Given the description of an element on the screen output the (x, y) to click on. 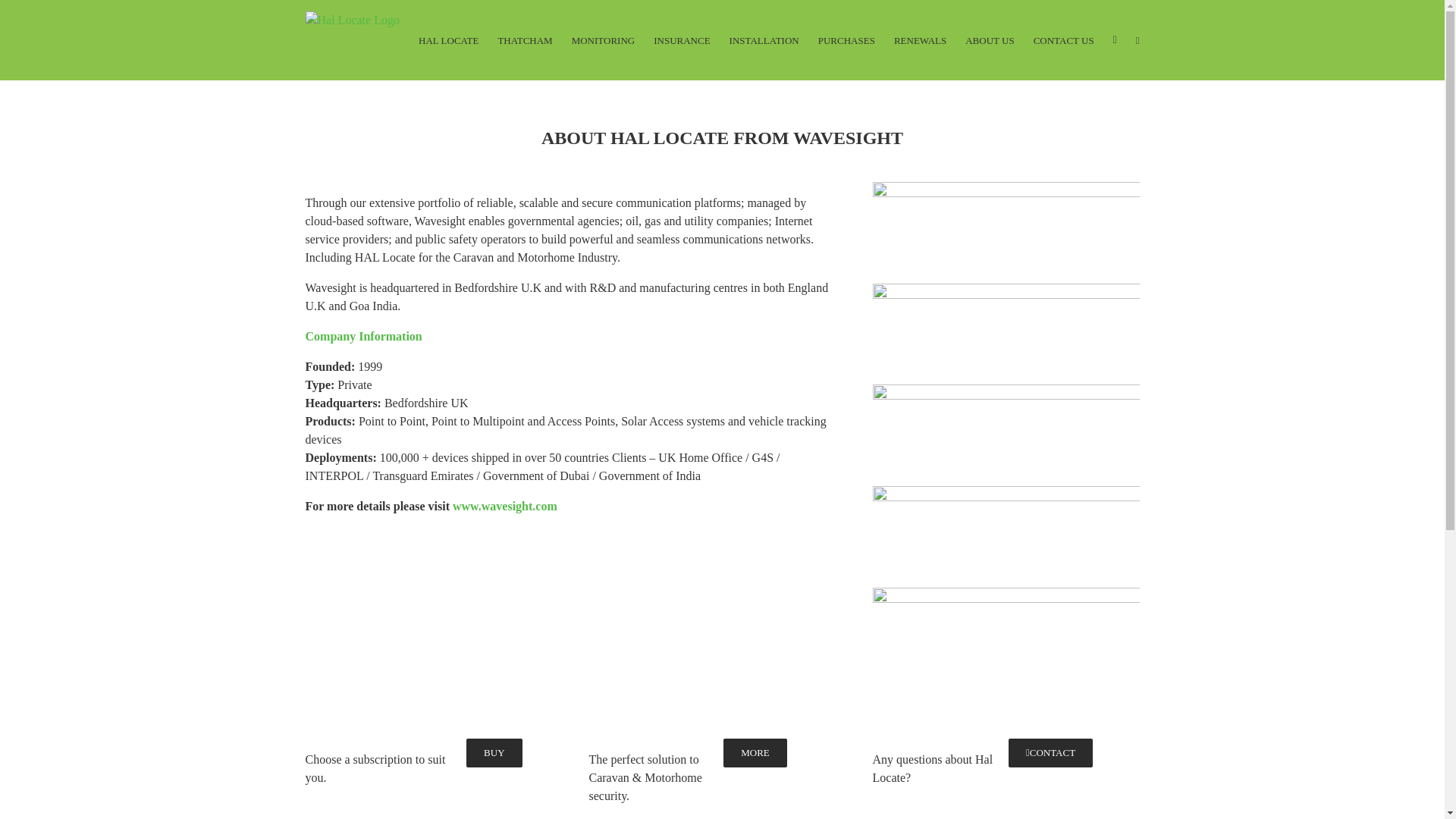
MONITORING (603, 40)
ABOUT US (989, 40)
MORE (755, 752)
CONTACT (1051, 752)
CONTACT US (1063, 40)
ABOUT HAL LOCATE FROM WAVESIGHT (721, 144)
INSTALLATION (764, 40)
HAL LOCATE (449, 40)
RENEWALS (919, 40)
THATCHAM (524, 40)
PURCHASES (846, 40)
INSURANCE (681, 40)
BUY (493, 752)
www.wavesight.com (504, 505)
